Given the description of an element on the screen output the (x, y) to click on. 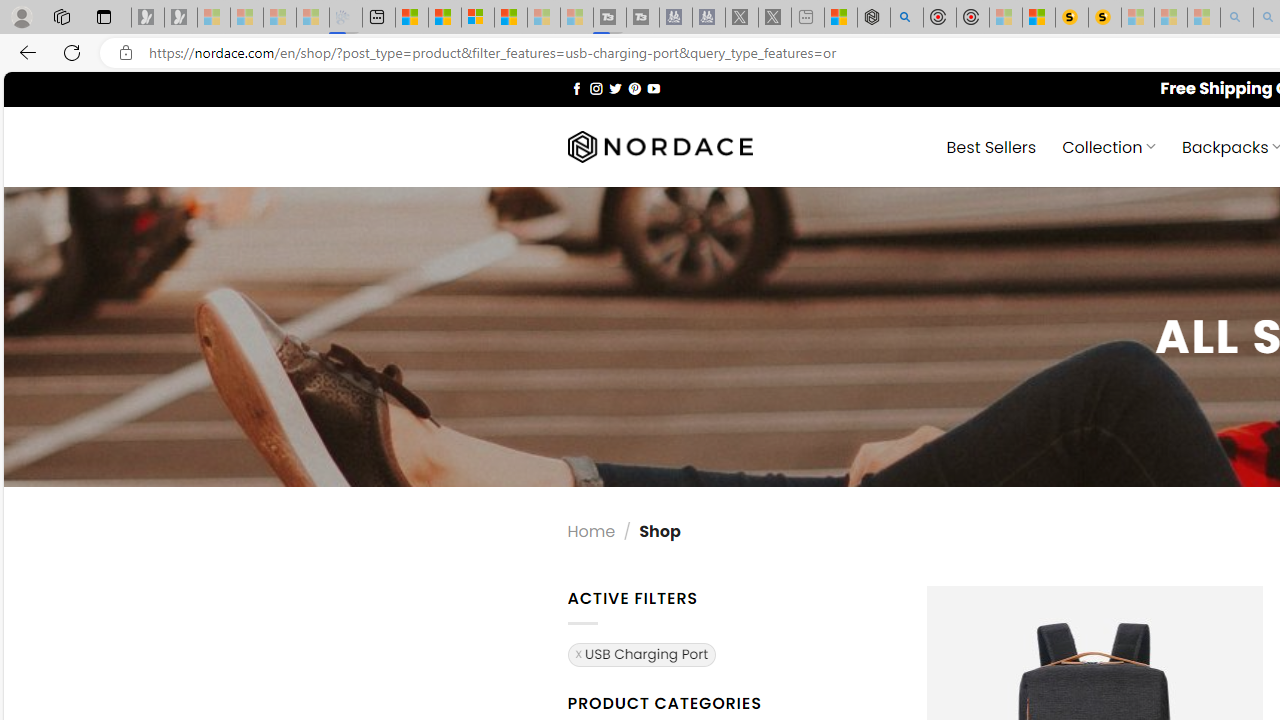
Streaming Coverage | T3 - Sleeping (609, 17)
Follow on Facebook (576, 88)
Newsletter Sign Up - Sleeping (181, 17)
  Best Sellers (990, 146)
Refresh (72, 52)
Nordace - Summer Adventures 2024 (873, 17)
Follow on Pinterest (634, 88)
poe - Search (906, 17)
